Given the description of an element on the screen output the (x, y) to click on. 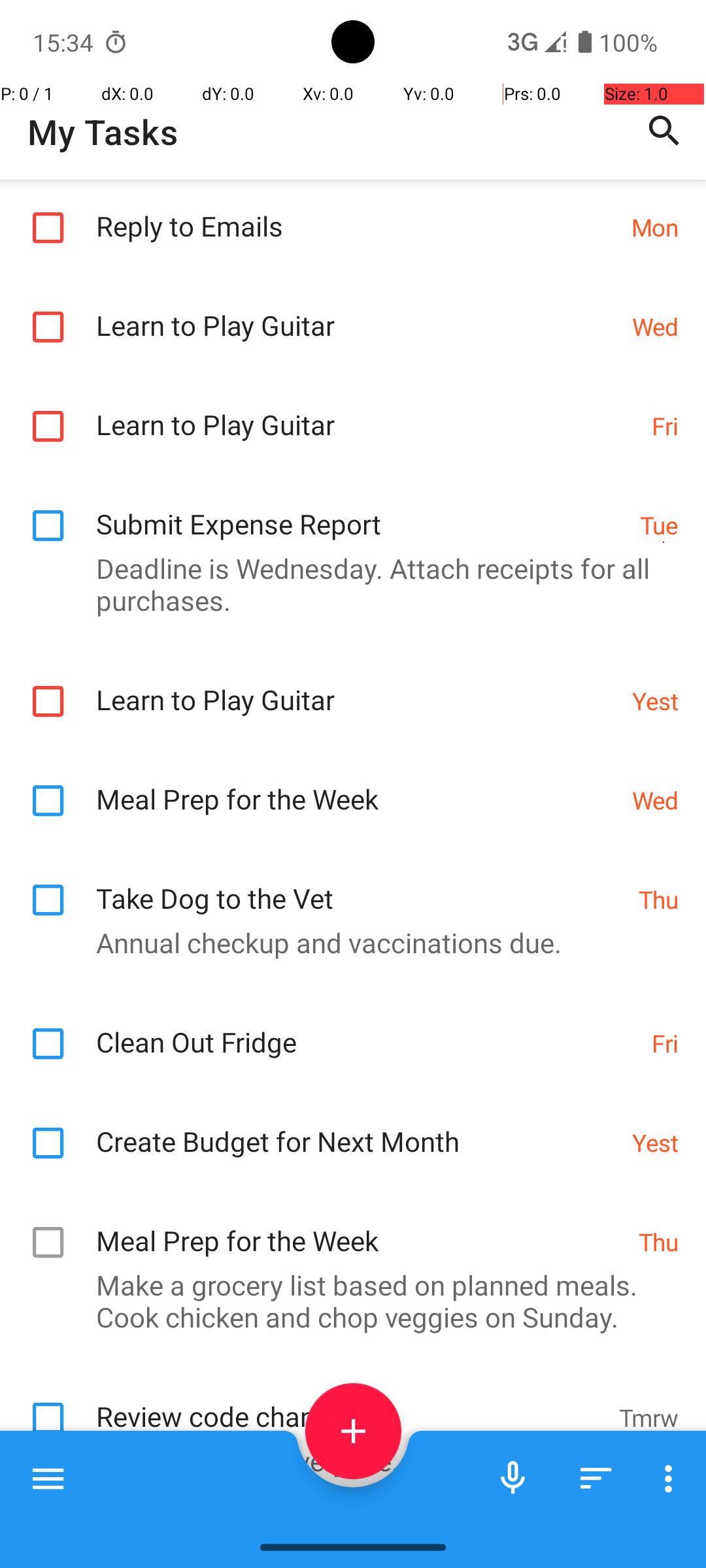
My Tasks Element type: android.widget.TextView (102, 131)
Sort Element type: android.widget.Button (595, 1478)
Reply to Emails Element type: android.widget.TextView (356, 211)
Mon Element type: android.widget.TextView (654, 226)
Learn to Play Guitar Element type: android.widget.TextView (357, 310)
Wed Element type: android.widget.TextView (655, 325)
Fri Element type: android.widget.TextView (665, 425)
Submit Expense Report Element type: android.widget.TextView (361, 509)
Deadline is Wednesday. Attach receipts for all purchases. Element type: android.widget.TextView (346, 583)
Tue Element type: android.widget.TextView (659, 524)
Yest Element type: android.widget.TextView (655, 700)
Meal Prep for the Week Element type: android.widget.TextView (357, 784)
Take Dog to the Vet Element type: android.widget.TextView (360, 883)
Annual checkup and vaccinations due. Element type: android.widget.TextView (346, 942)
Thu Element type: android.widget.TextView (658, 898)
Clean Out Fridge Element type: android.widget.TextView (367, 1027)
Create Budget for Next Month Element type: android.widget.TextView (357, 1126)
Make a grocery list based on planned meals. Cook chicken and chop veggies on Sunday. Element type: android.widget.TextView (346, 1300)
Review code changes Element type: android.widget.TextView (350, 1402)
Send emails to everyone. Element type: android.widget.TextView (346, 1460)
Tmrw Element type: android.widget.TextView (648, 1416)
Research Vacation Destinations Element type: android.widget.TextView (357, 1519)
